Given the description of an element on the screen output the (x, y) to click on. 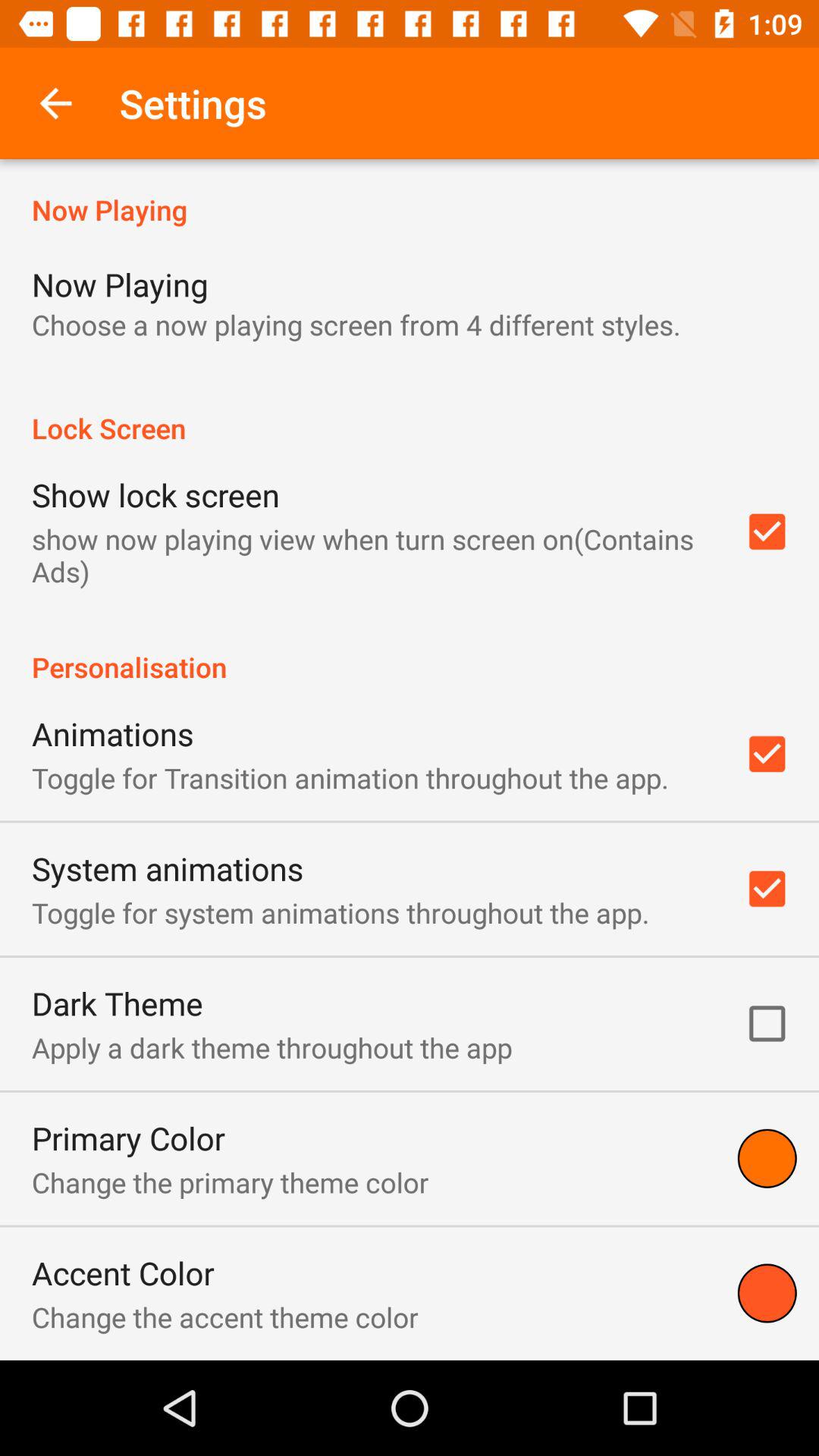
open icon above the animations item (409, 650)
